Given the description of an element on the screen output the (x, y) to click on. 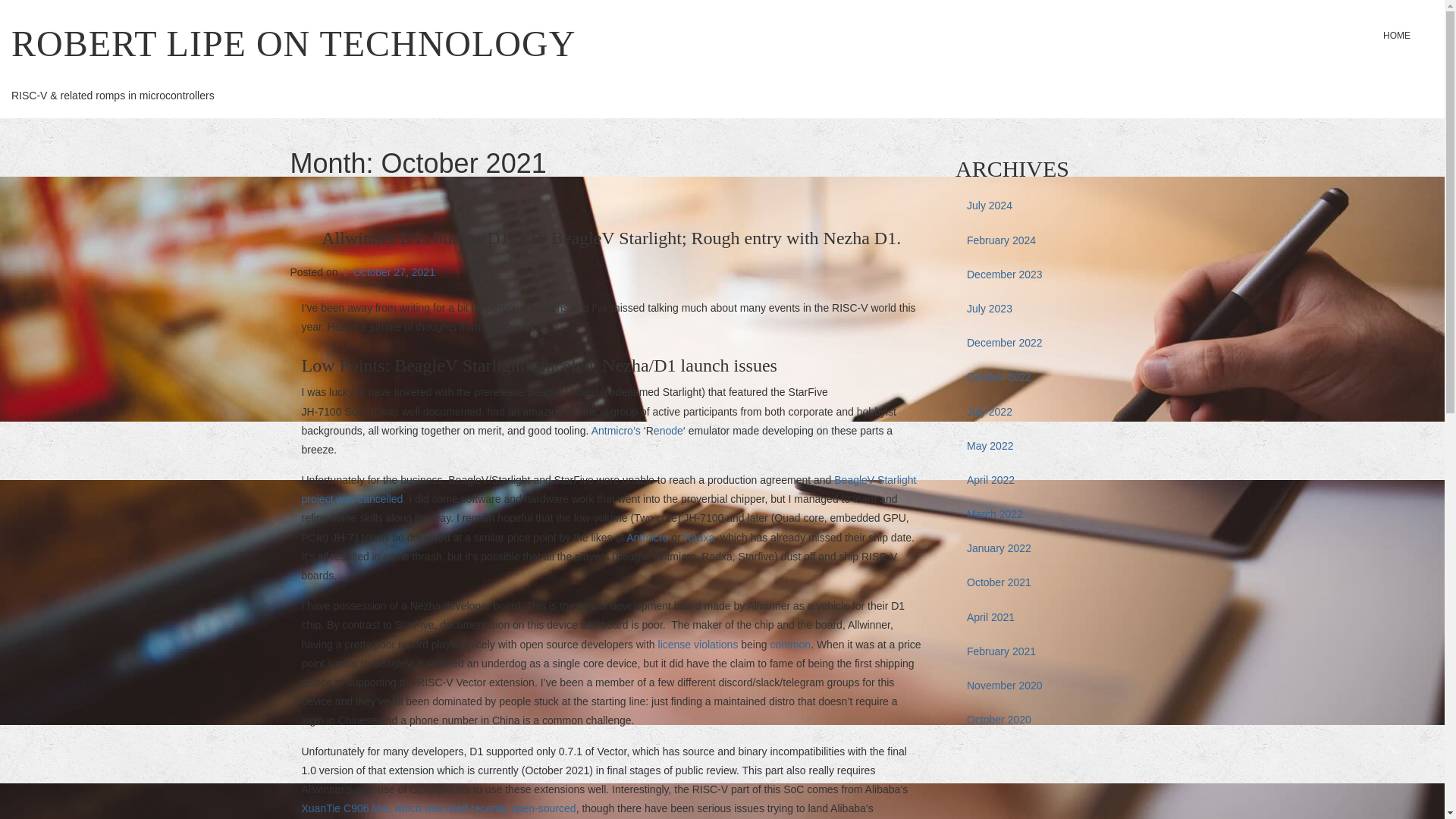
December 2023 (1054, 274)
October 27, 2021 (387, 272)
Radxa (699, 537)
July 2022 (1054, 411)
February 2024 (1054, 240)
January 2022 (1054, 548)
BeagleV Starlight project was cancelled (609, 489)
XuanTie C906 line, which was itself recently open-sourced (438, 808)
common (790, 644)
October 2021 (1054, 582)
May 2022 (1054, 446)
April 2022 (1054, 480)
October 2022 (1054, 376)
July 2024 (1054, 205)
